Given the description of an element on the screen output the (x, y) to click on. 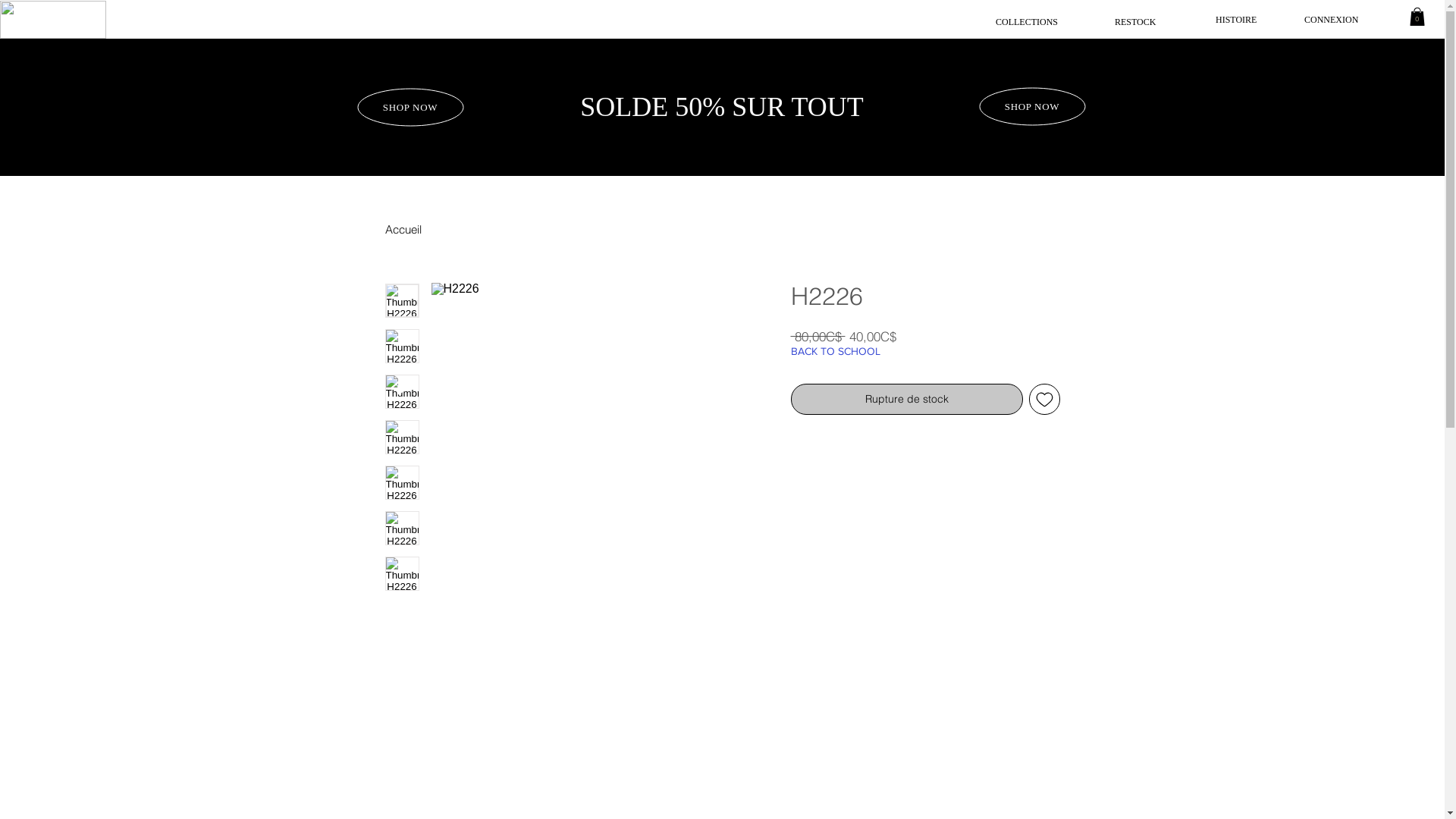
Accueil Element type: text (403, 229)
COLLECTIONS Element type: text (1026, 21)
SOLDE 50% SUR TOUT Element type: text (721, 106)
Rupture de stock Element type: text (906, 398)
SHOP NOW Element type: text (1031, 106)
CONNEXION Element type: text (1331, 19)
SHOP NOW Element type: text (409, 107)
menu Element type: hover (53, 19)
0 Element type: text (1416, 16)
RESTOCK Element type: text (1134, 21)
HISTOIRE Element type: text (1235, 19)
